Given the description of an element on the screen output the (x, y) to click on. 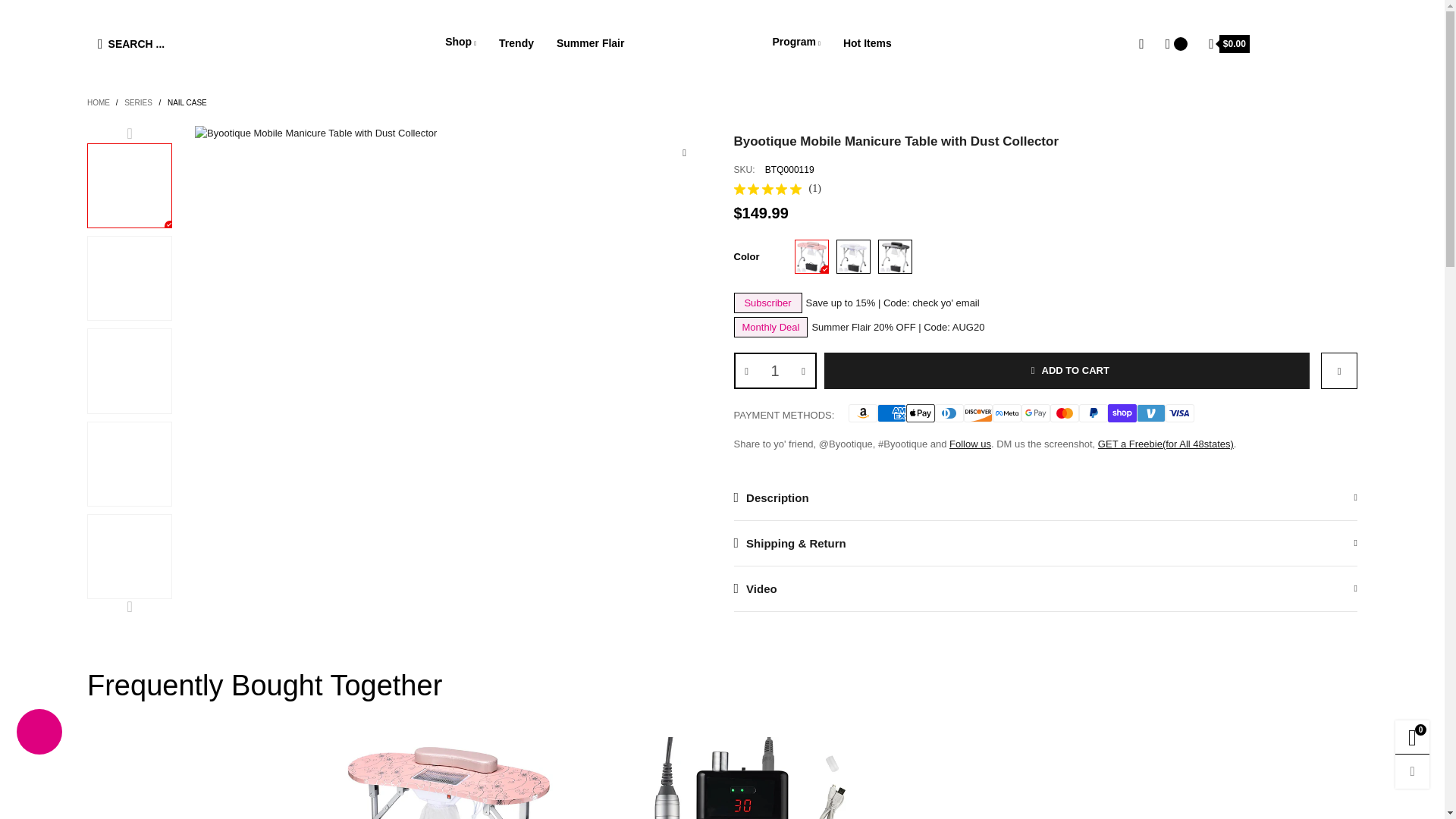
Program (796, 42)
Amazon (862, 413)
Cart (1229, 42)
Shop (460, 42)
Program (796, 42)
Meta Pay (1007, 413)
Diners Club (948, 413)
Shop Pay (1122, 413)
Hot Items (867, 42)
Apple Pay (919, 413)
